Given the description of an element on the screen output the (x, y) to click on. 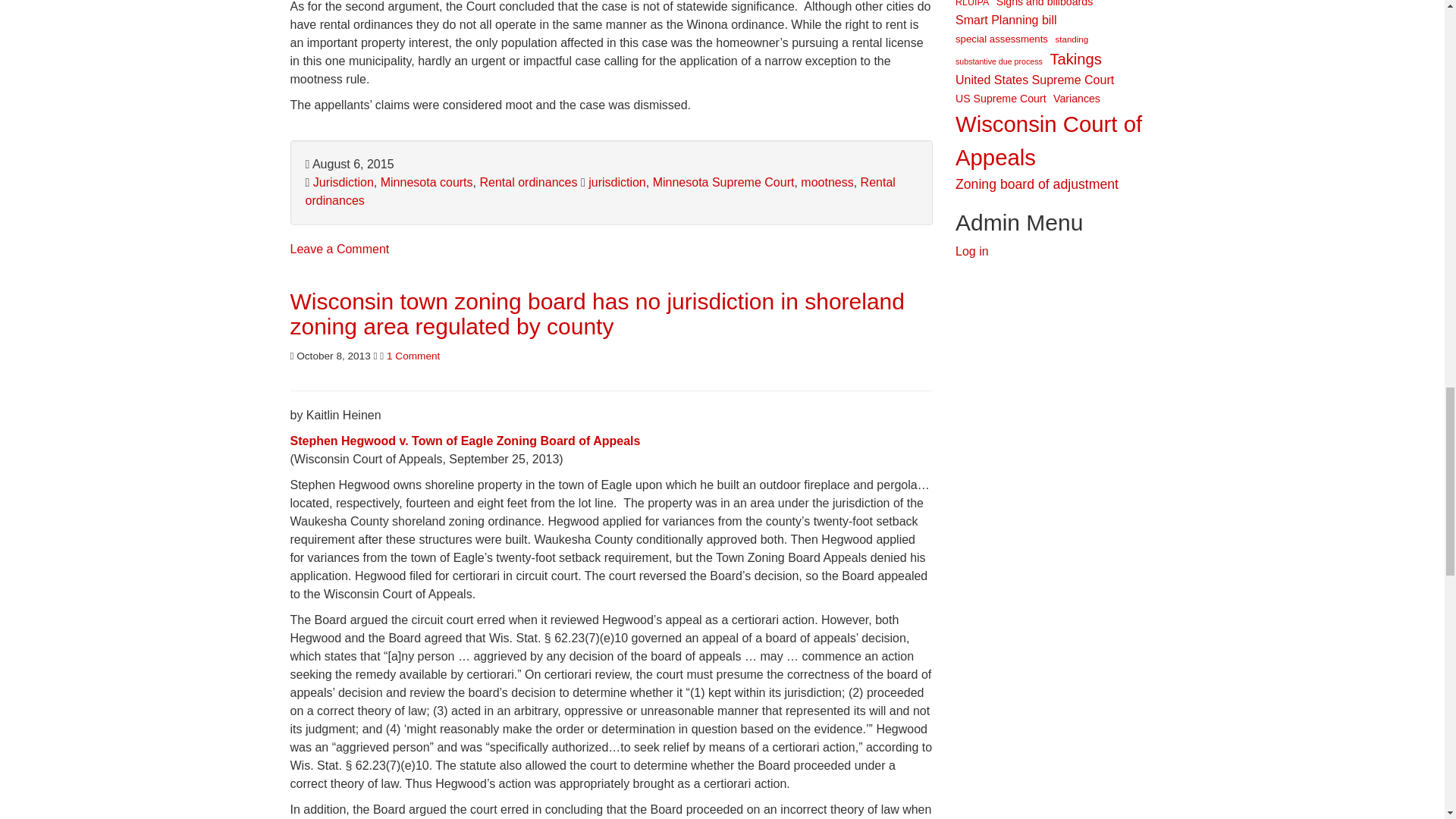
Last Updated (348, 164)
Posted On (329, 355)
